Given the description of an element on the screen output the (x, y) to click on. 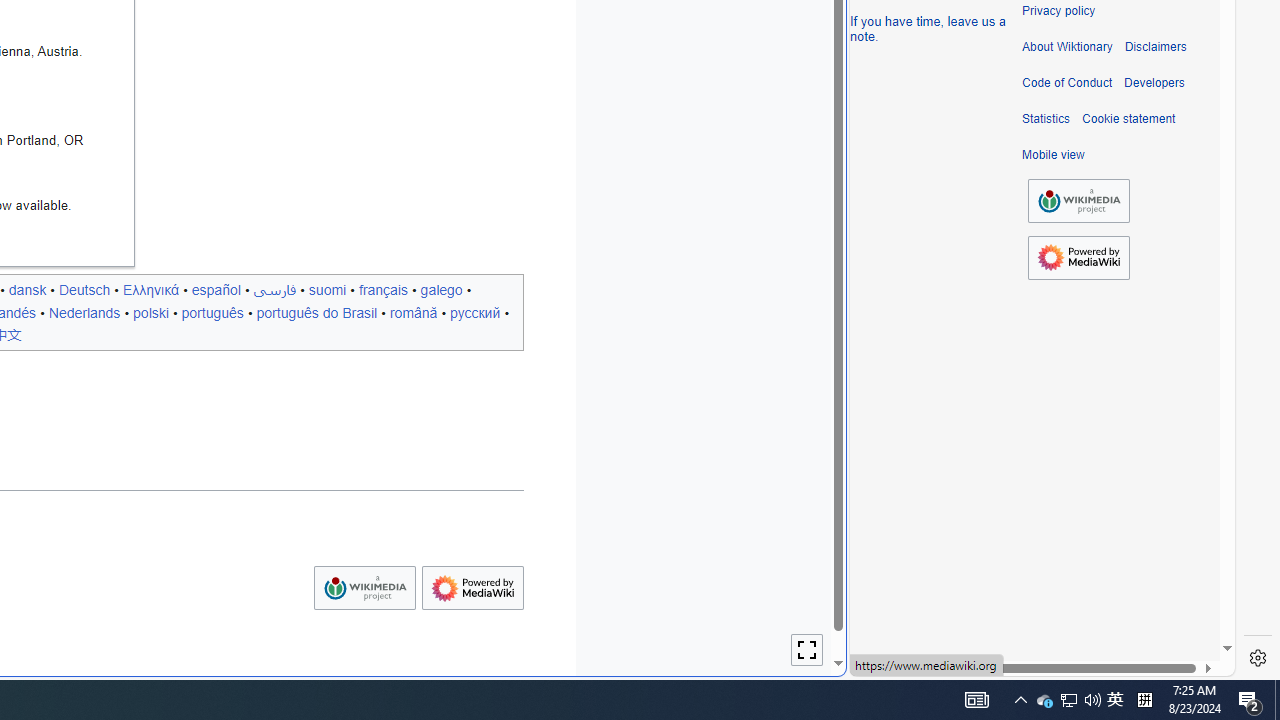
Code of Conduct (1067, 83)
Developers (1154, 83)
Mobile view (1053, 155)
Wikimedia Foundation (1078, 200)
Toggle limited content width (807, 650)
Powered by MediaWiki (1078, 257)
Statistics (1046, 119)
Cookie statement (1128, 119)
